Given the description of an element on the screen output the (x, y) to click on. 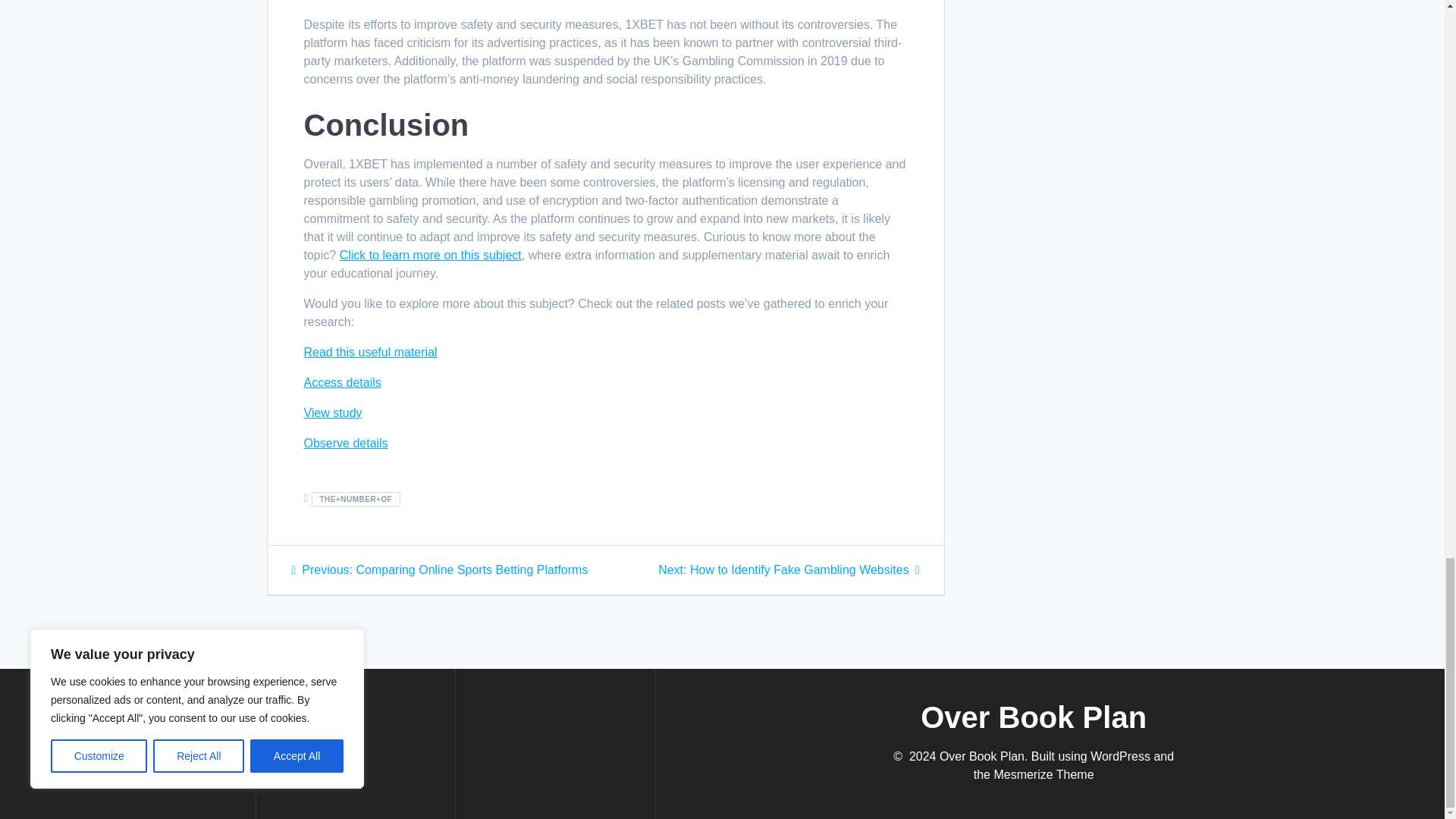
Observe details (344, 442)
Access details (341, 382)
Read this useful material (369, 351)
Click to learn more on this subject (430, 254)
View study (788, 569)
